Given the description of an element on the screen output the (x, y) to click on. 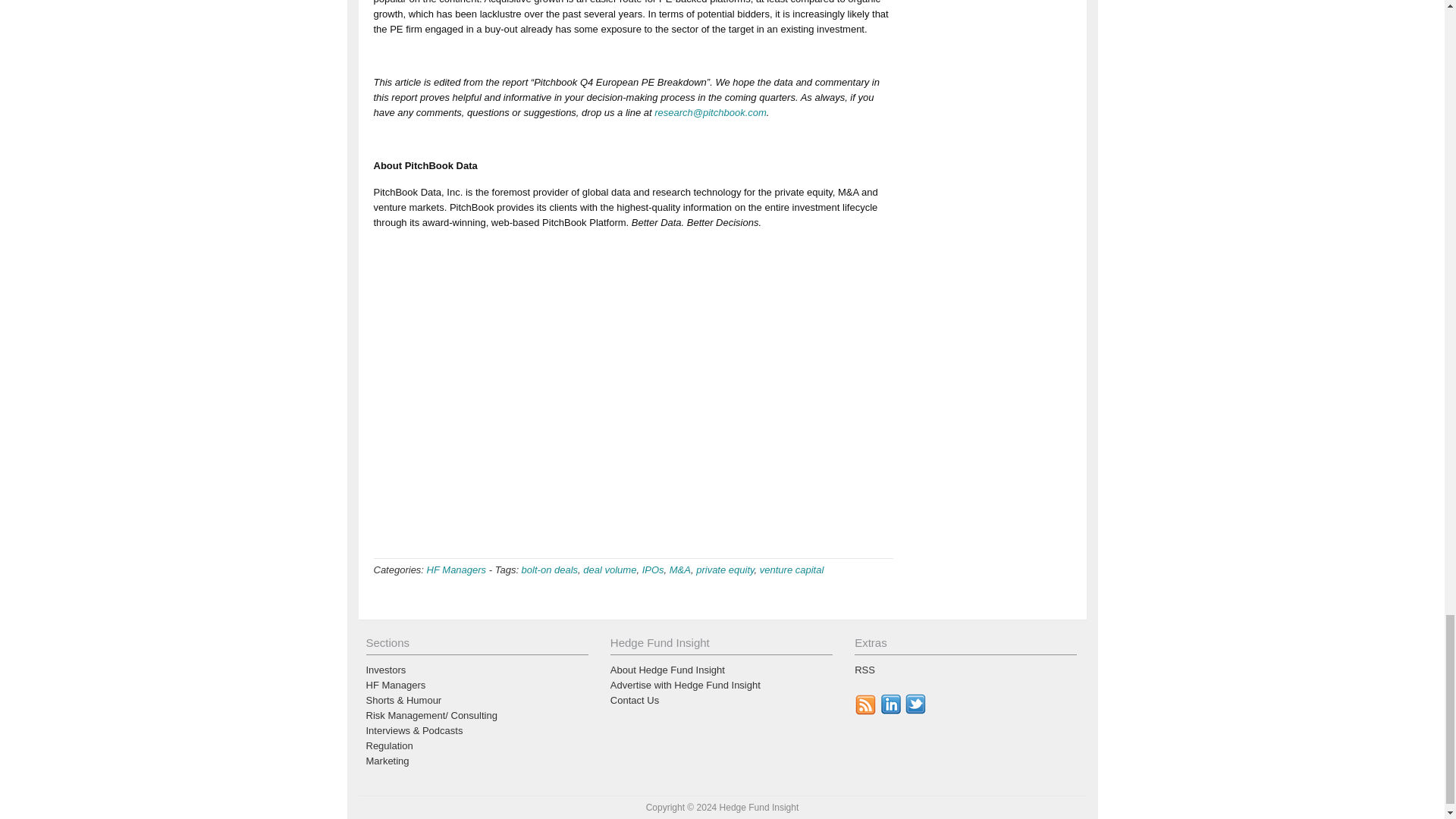
bolt-on deals (549, 569)
venture capital (792, 569)
IPOs (652, 569)
HF Managers (456, 569)
private equity (724, 569)
deal volume (609, 569)
